Given the description of an element on the screen output the (x, y) to click on. 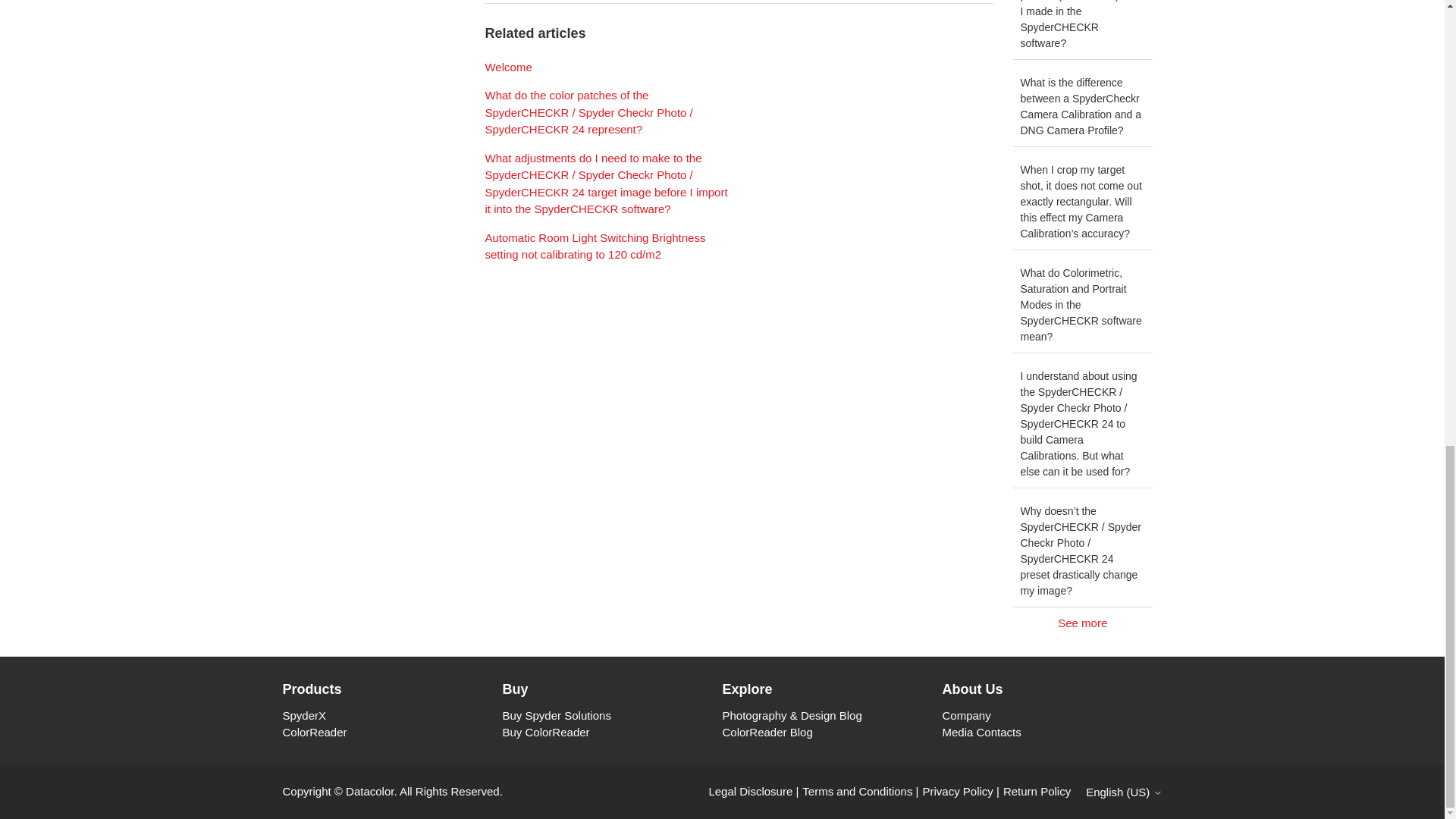
SpyderX (304, 715)
See more (1083, 623)
See more (1083, 623)
SpyderX (304, 715)
ColorReader (314, 731)
Welcome (507, 66)
Product (392, 688)
